Given the description of an element on the screen output the (x, y) to click on. 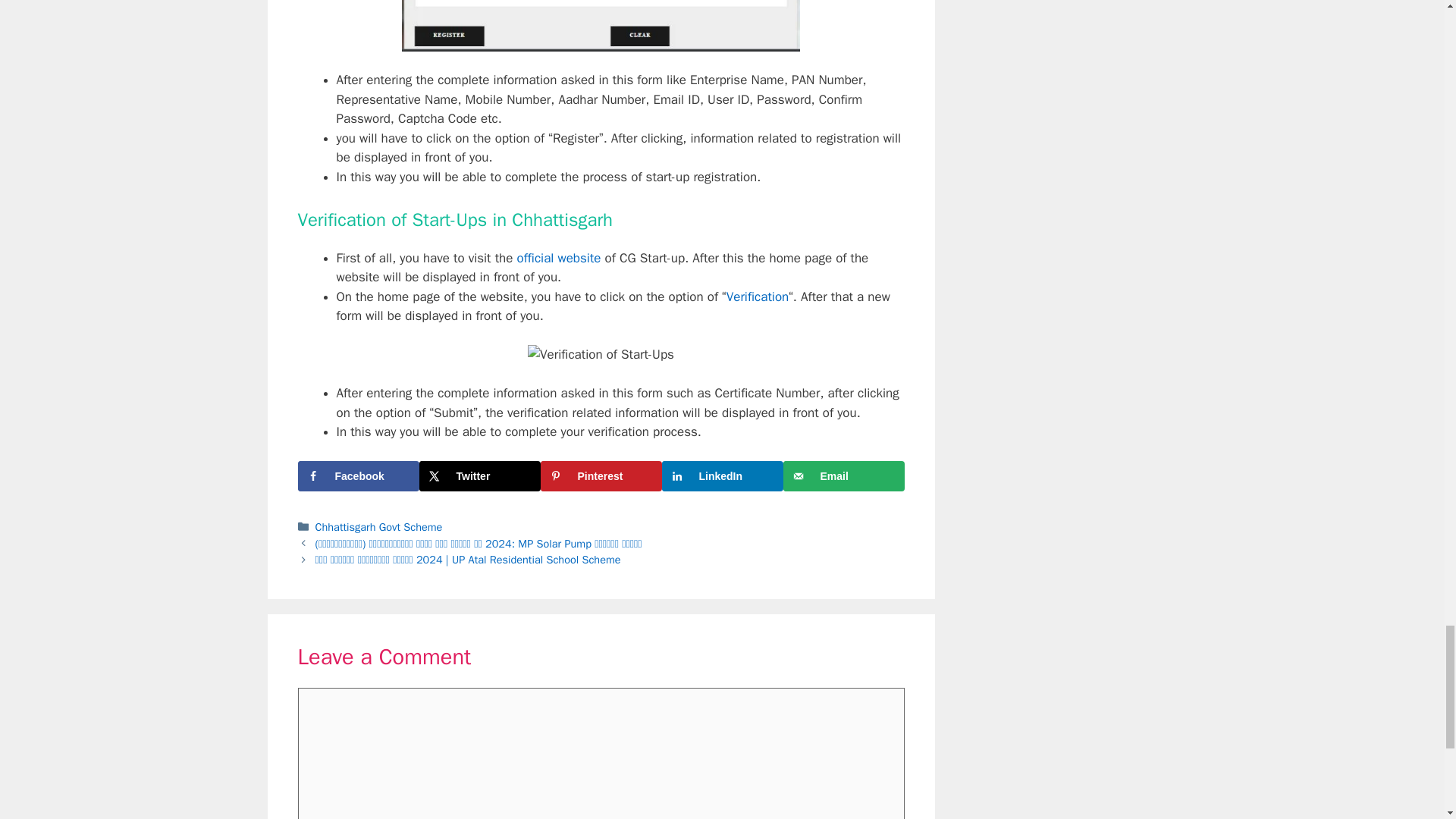
Email (843, 476)
official website (557, 258)
Share on X (479, 476)
Twitter (479, 476)
LinkedIn (722, 476)
Chhattisgarh Govt Scheme (378, 526)
Share on LinkedIn (722, 476)
Share on Facebook (358, 476)
Save to Pinterest (600, 476)
Facebook (358, 476)
Pinterest (600, 476)
Verification (757, 296)
